Given the description of an element on the screen output the (x, y) to click on. 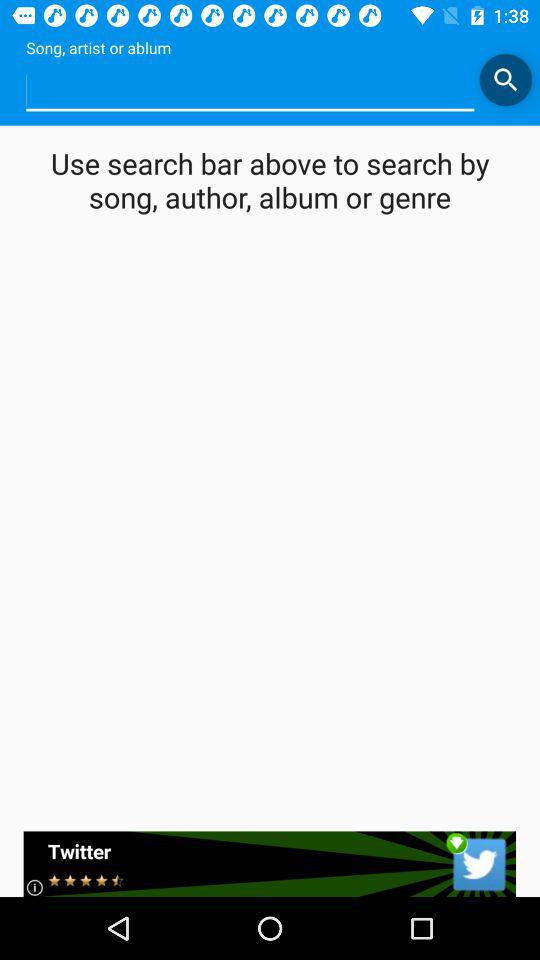
remove the add (269, 864)
